Given the description of an element on the screen output the (x, y) to click on. 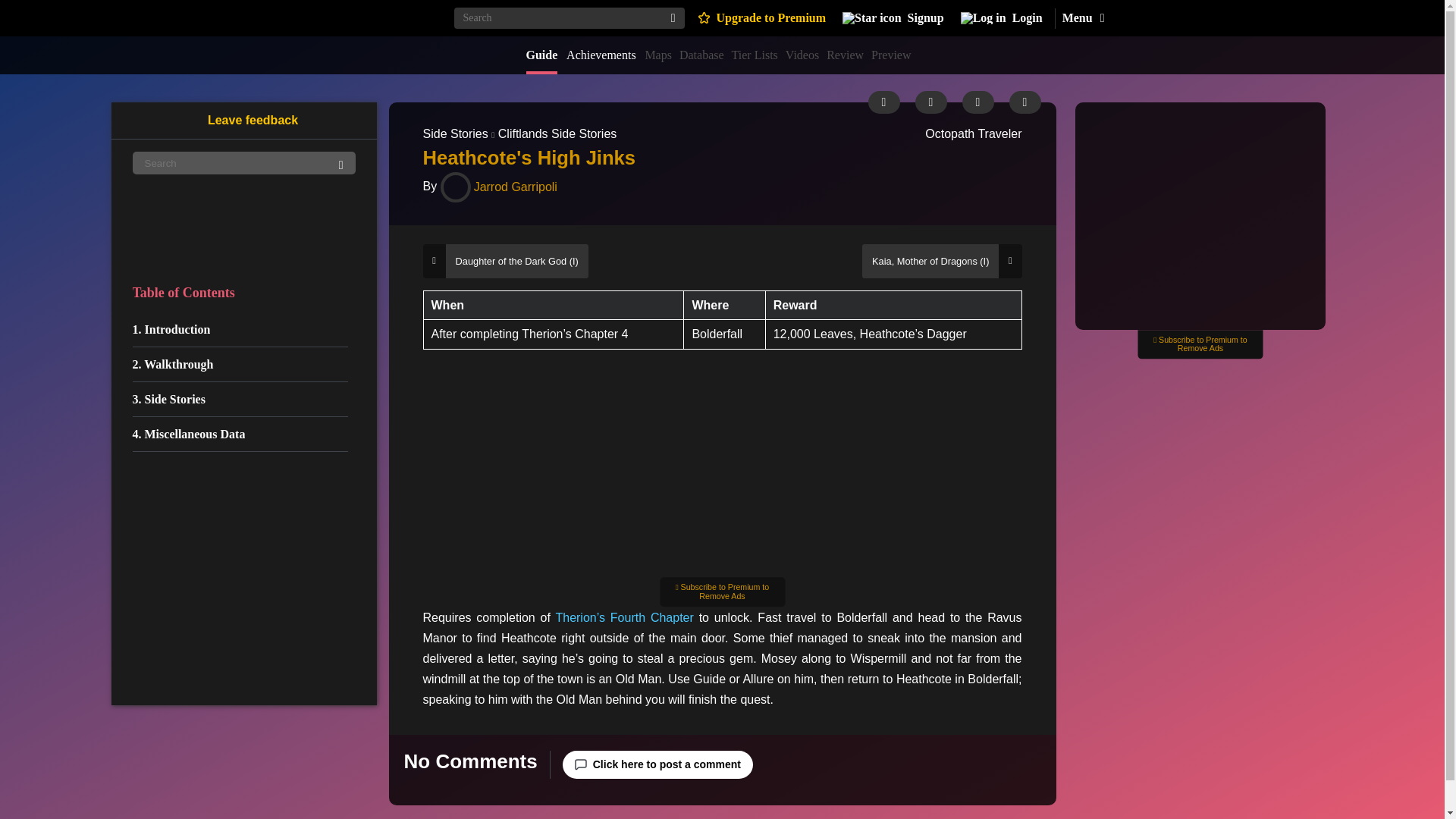
Leave feedback (243, 120)
Favorite (1025, 101)
Therion's Fourth Chapter (623, 617)
Share (976, 101)
Download guide (930, 101)
Achievements (600, 55)
Guide information (883, 101)
Login (1001, 18)
Signup (893, 18)
Main Menu (1082, 18)
Achievements (600, 55)
Home (388, 17)
